Given the description of an element on the screen output the (x, y) to click on. 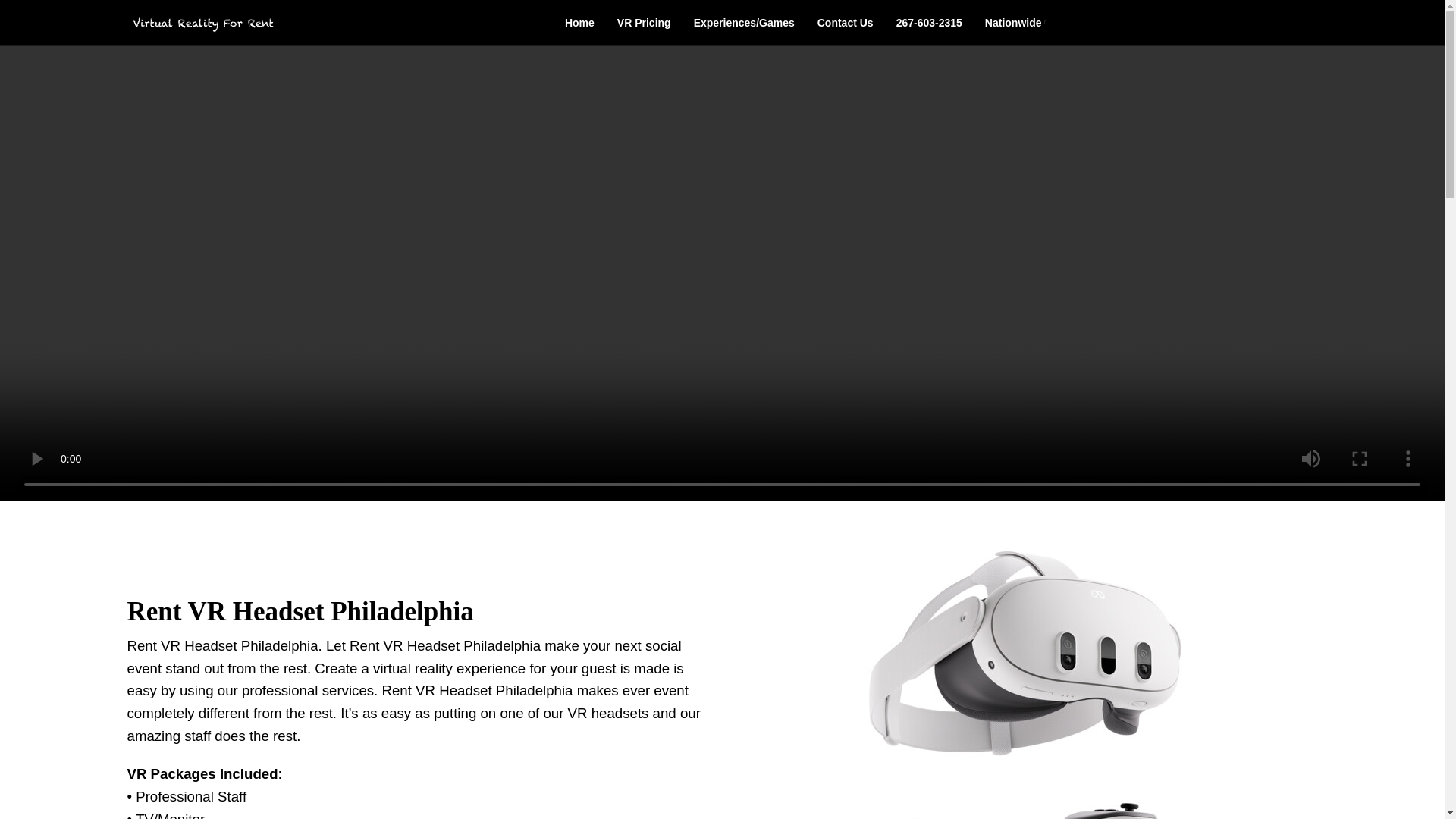
VR Pricing (644, 22)
Home (579, 22)
Contact Us (844, 22)
Nationwide (1015, 22)
267-603-2315 (929, 22)
